Given the description of an element on the screen output the (x, y) to click on. 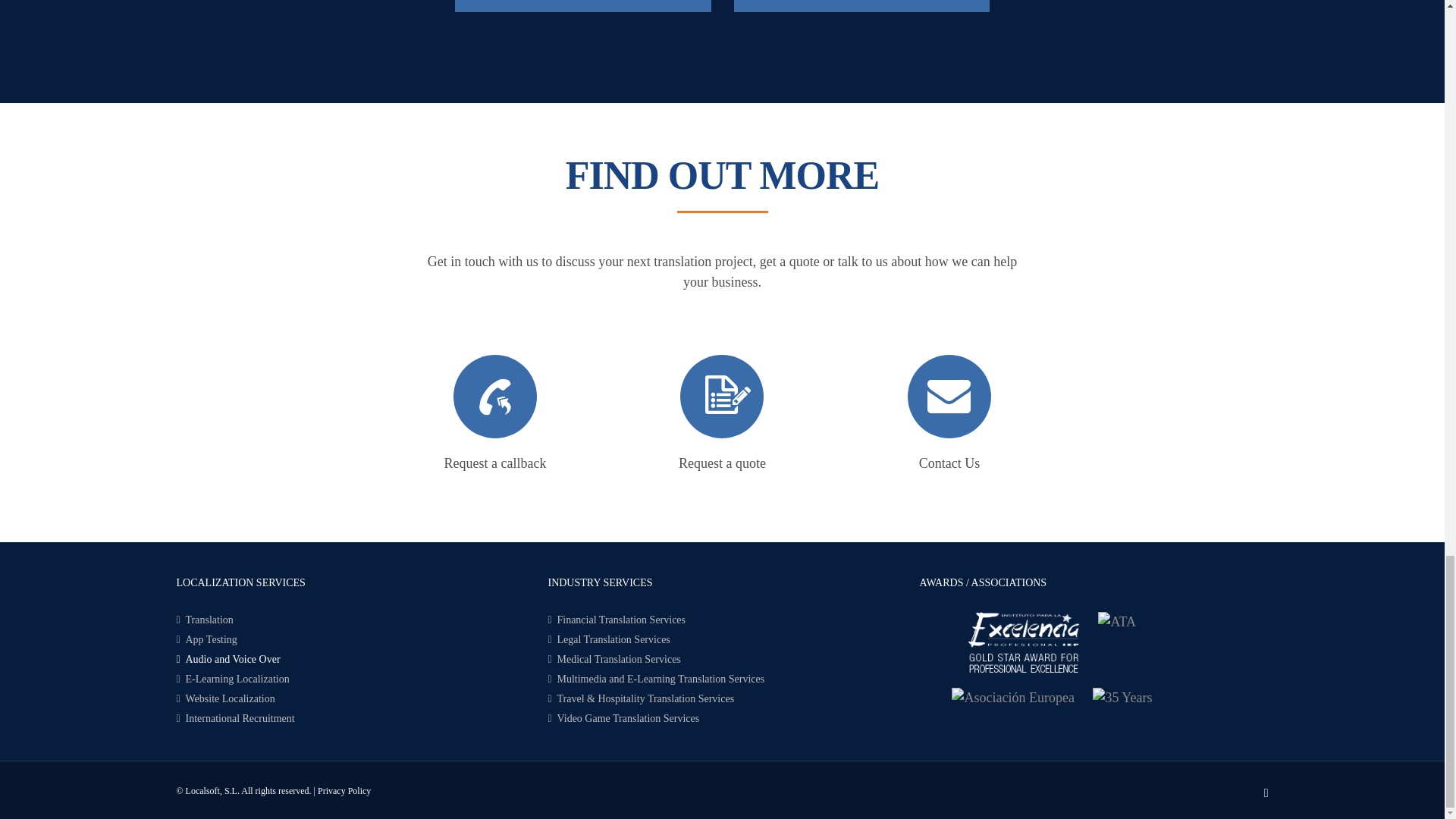
Gold Star Award for Professional Excellence (1024, 641)
Audio and Voice Over (350, 659)
Contact Us (949, 463)
Member of American Translators Association (1116, 621)
E-Learning Localization (350, 678)
Request a quote (721, 463)
LinkedIn (1265, 793)
App Testing (350, 639)
Website Localization (350, 698)
International Recruitment (350, 718)
35 Years - 1988-2023 (1122, 697)
Translation (350, 619)
